Given the description of an element on the screen output the (x, y) to click on. 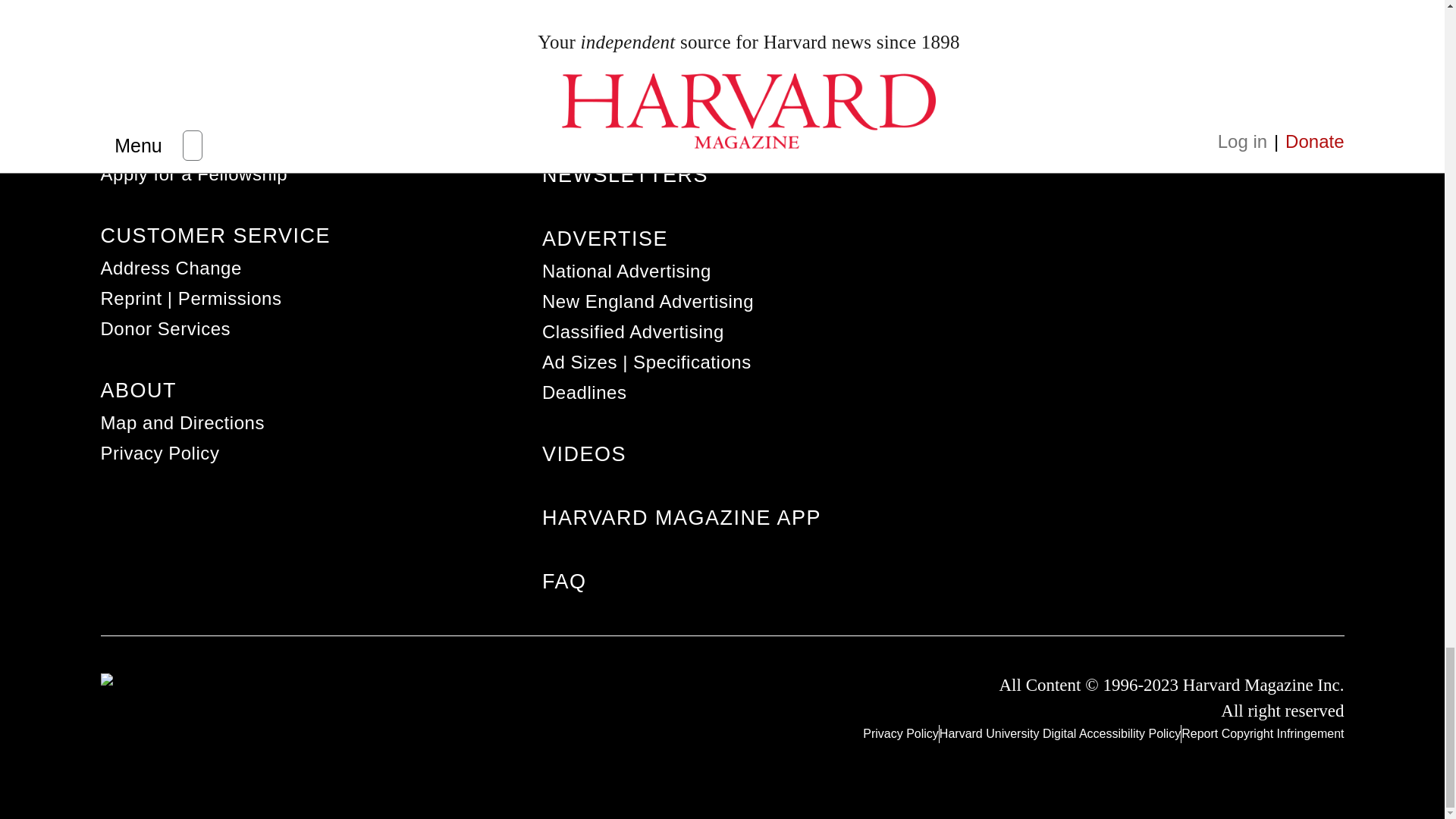
facebook (1164, 566)
